Given the description of an element on the screen output the (x, y) to click on. 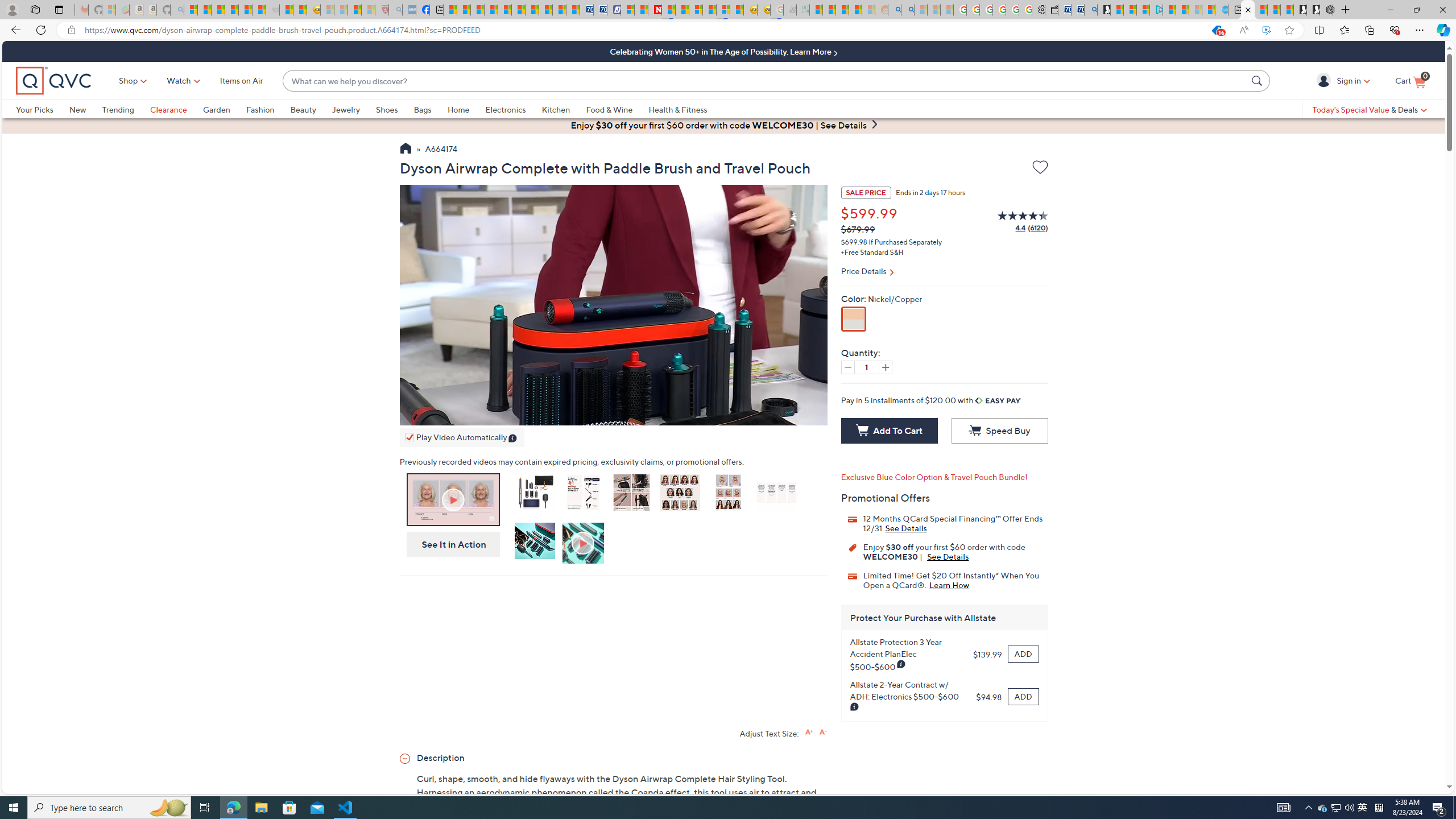
Enhance video (1266, 29)
Shoes (386, 109)
Quantity (866, 367)
See Details (948, 556)
Pause (411, 413)
Sign in (1325, 80)
Electronics (504, 109)
Shoes (394, 109)
